Given the description of an element on the screen output the (x, y) to click on. 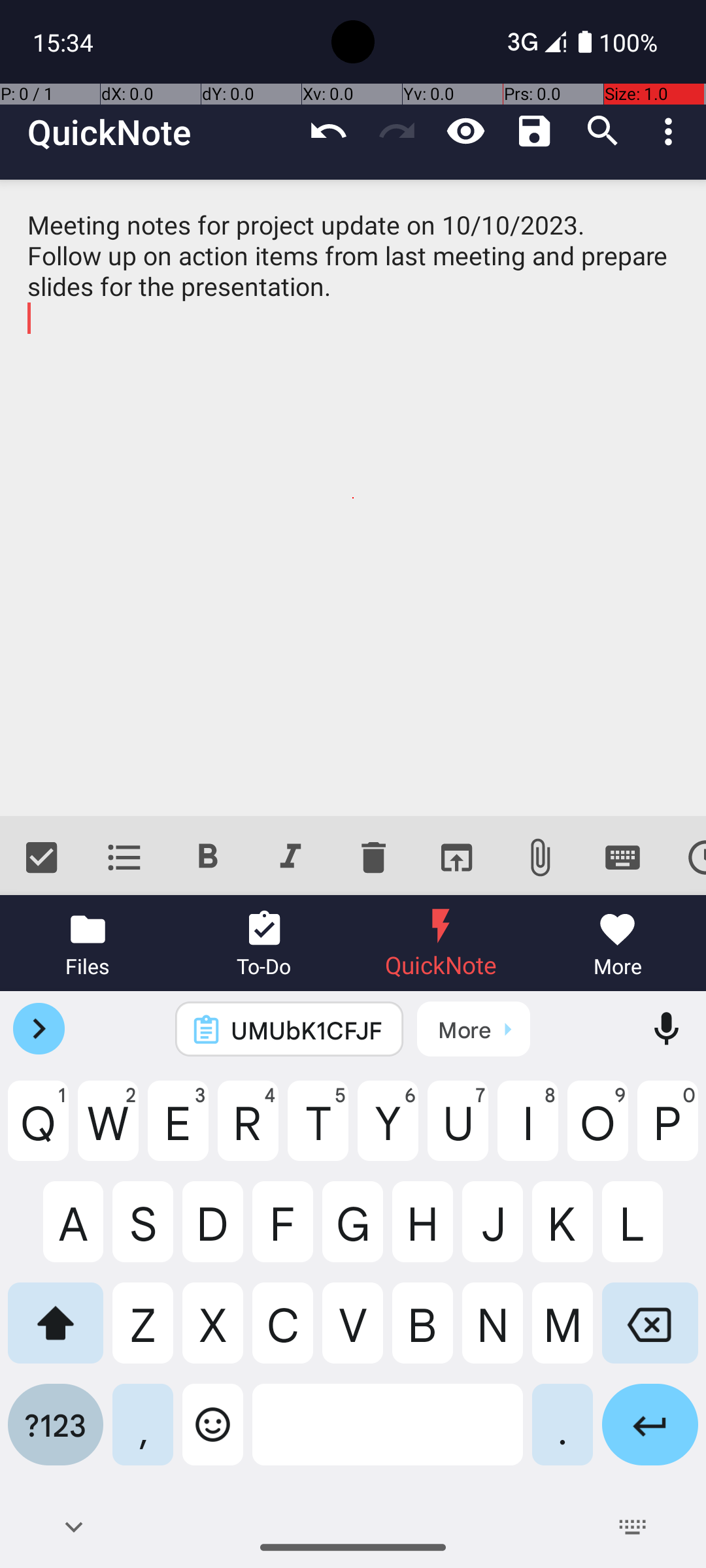
Meeting notes for project update on 10/10/2023.
Follow up on action items from last meeting and prepare slides for the presentation.
 Element type: android.widget.EditText (353, 497)
UMUbK1CFJF Element type: android.widget.TextView (306, 1029)
